Given the description of an element on the screen output the (x, y) to click on. 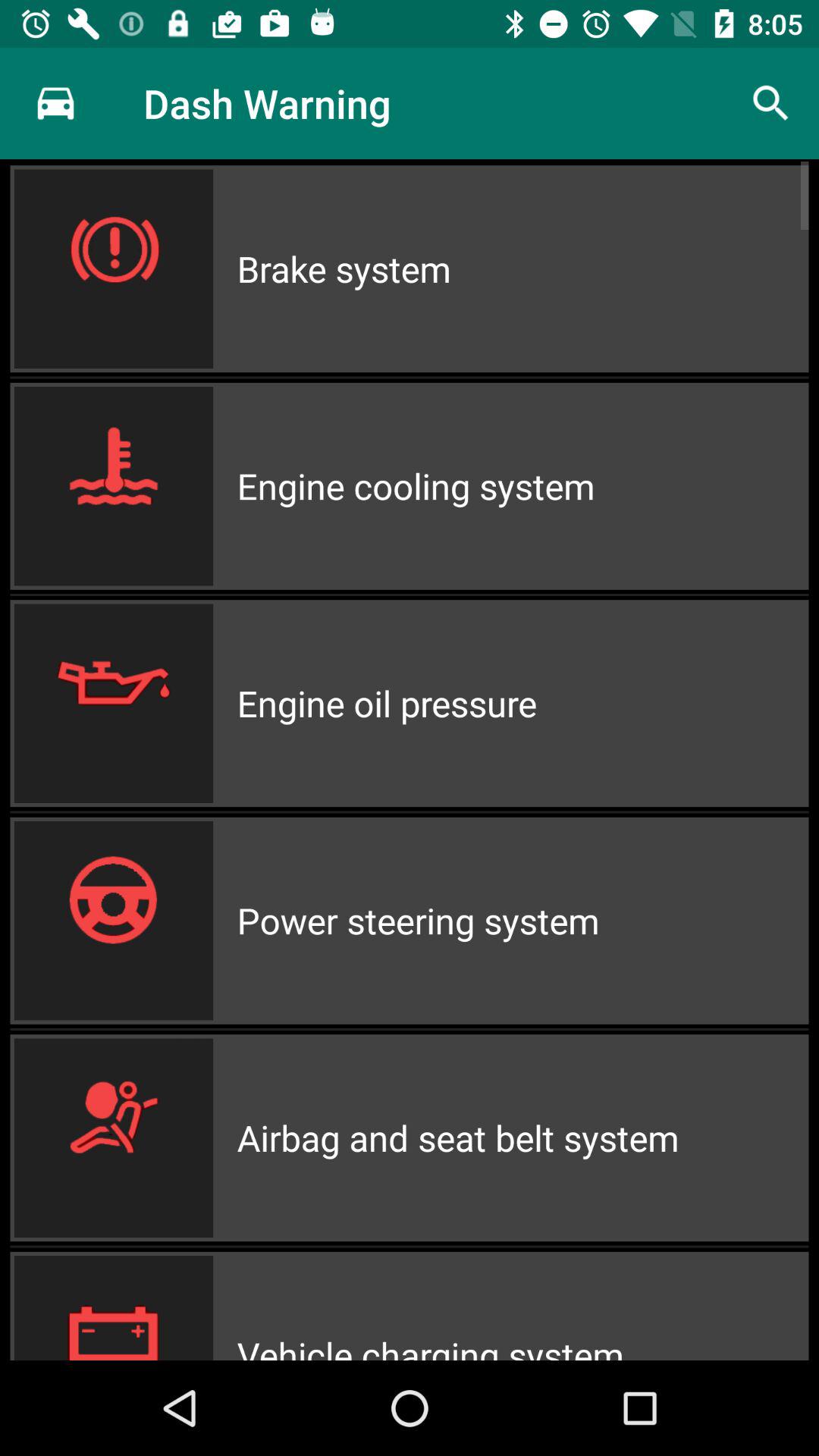
tap the item above the engine cooling system (522, 268)
